Given the description of an element on the screen output the (x, y) to click on. 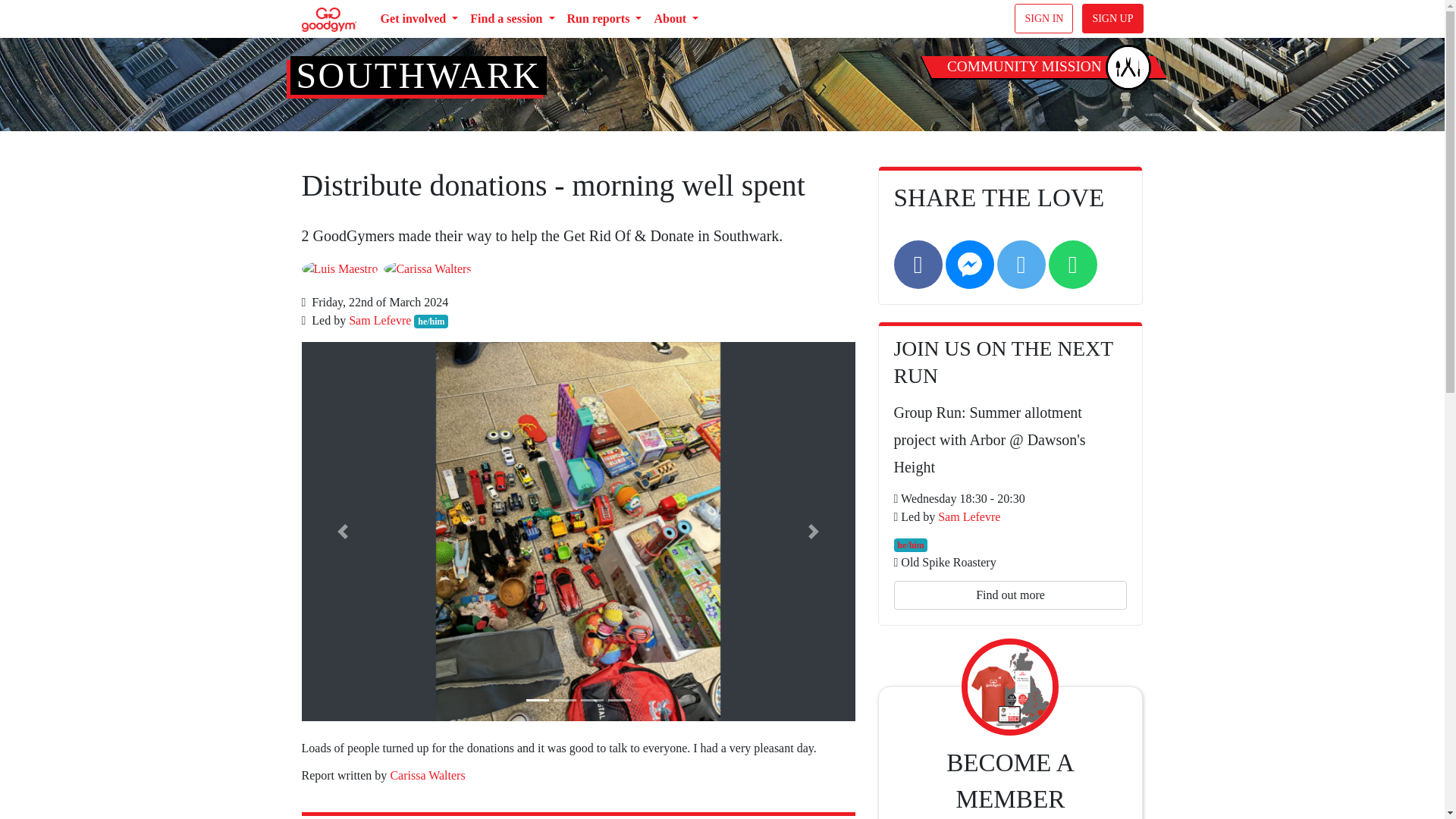
About (675, 19)
SIGN IN (1043, 18)
Get involved (419, 19)
Run reports (603, 19)
SIGN UP (1111, 18)
Messenger (968, 264)
SOUTHWARK (417, 75)
Find a session (512, 19)
